Given the description of an element on the screen output the (x, y) to click on. 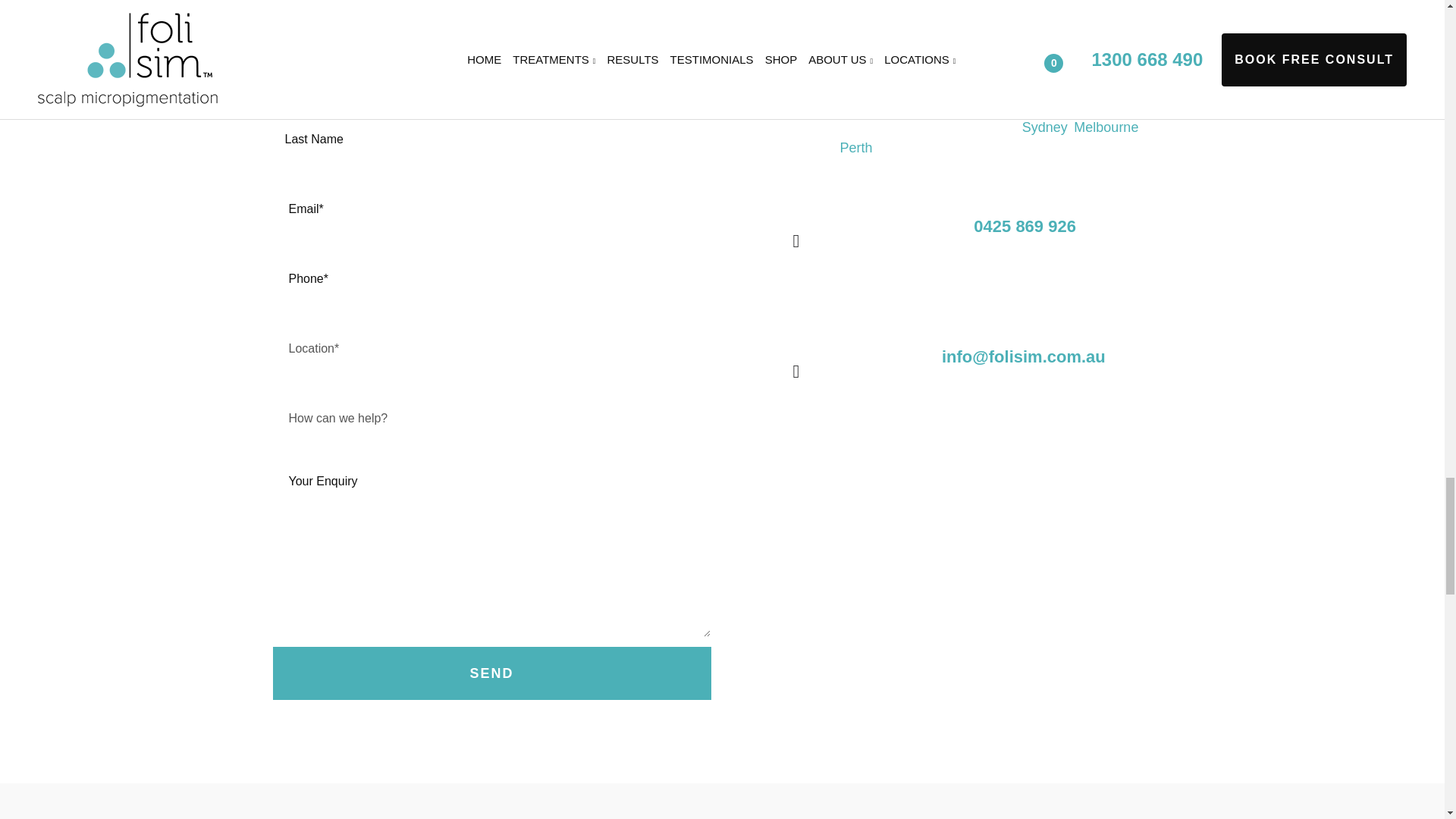
Send (492, 673)
